Given the description of an element on the screen output the (x, y) to click on. 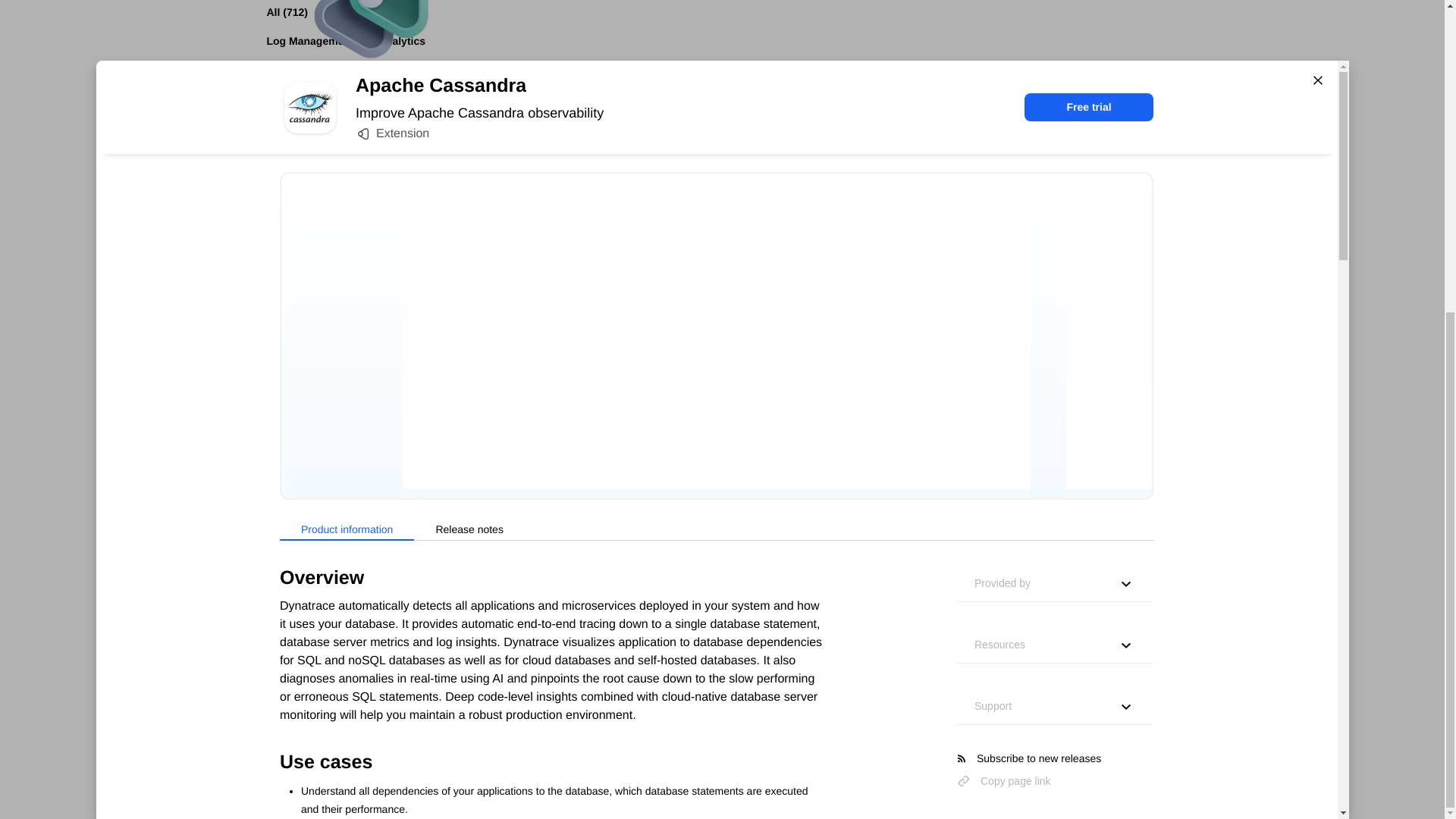
Automations (298, 154)
Application Security (317, 212)
Log Management and Analytics (345, 40)
Copy page link (1003, 282)
Kubernetes (295, 68)
set up Dynatrace on Kubernetes or OpenShift (527, 548)
Subscribe to new releases (1054, 259)
install OneAgent (671, 510)
Activate log monitoring (341, 675)
Provided by (1054, 84)
install OneAgent (668, 732)
Activate log monitoring (341, 808)
Digital Experience (311, 241)
Business Analytics (314, 270)
Application Observability (330, 184)
